Given the description of an element on the screen output the (x, y) to click on. 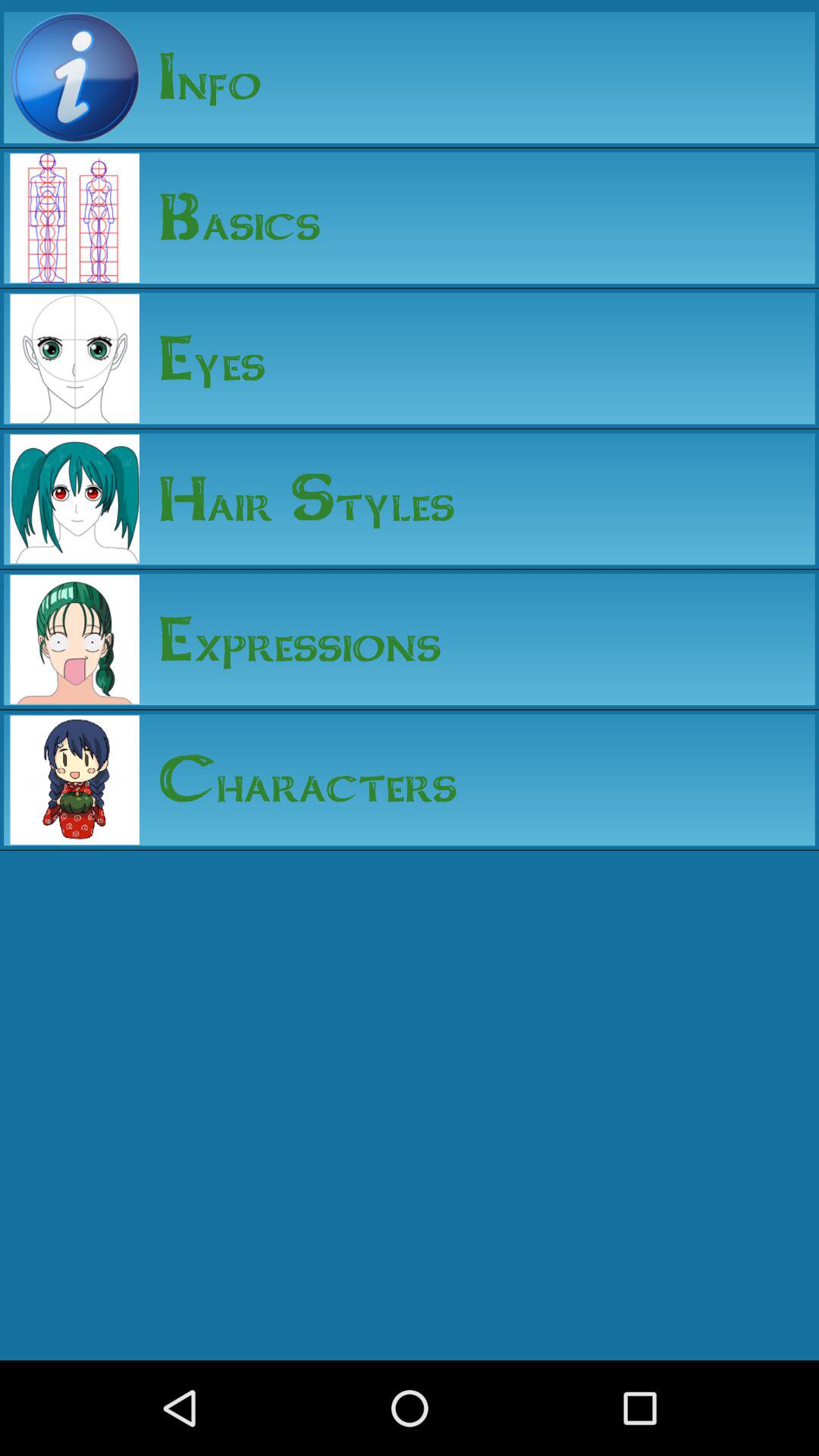
swipe to the expressions item (290, 638)
